Given the description of an element on the screen output the (x, y) to click on. 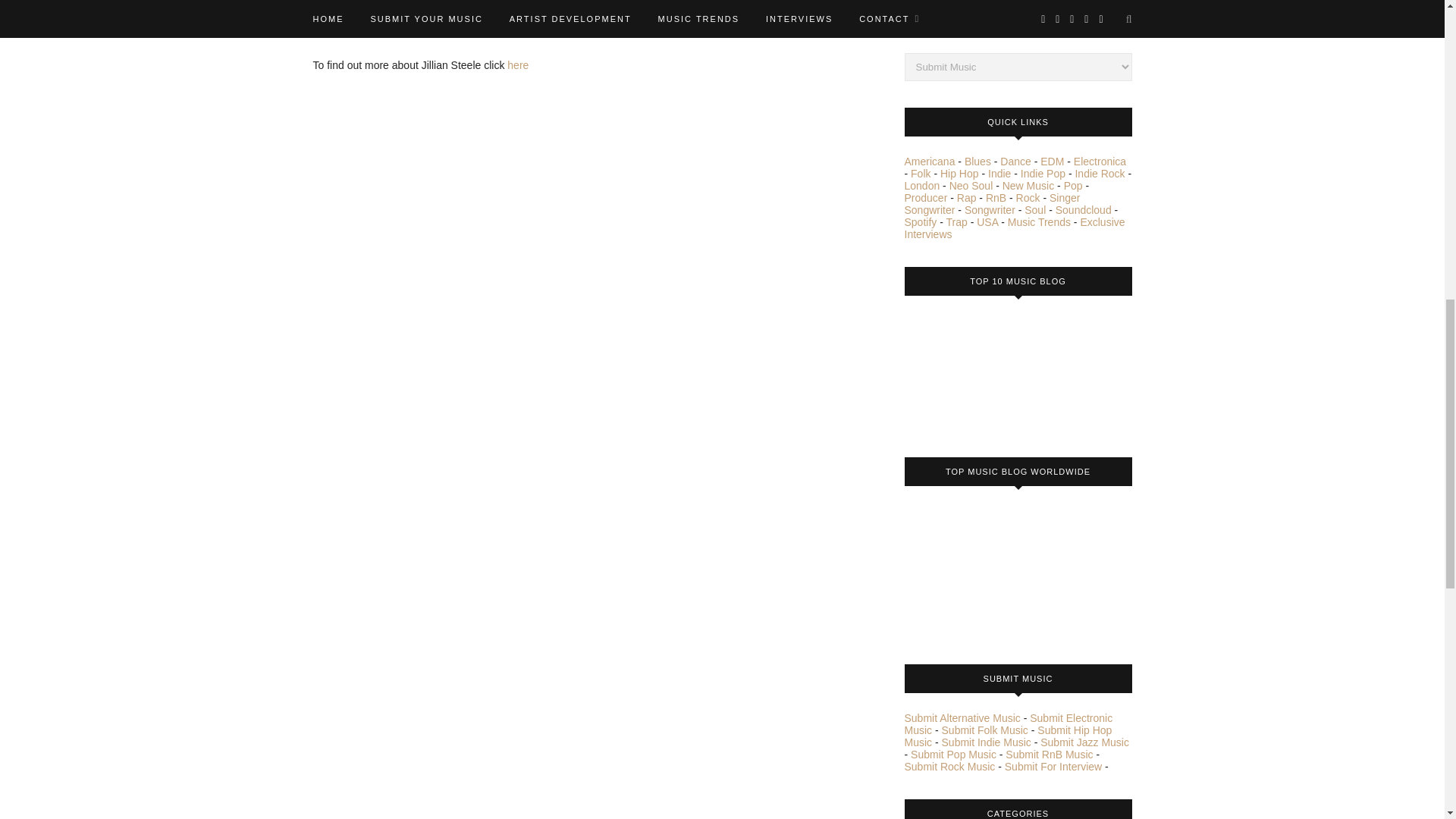
EDM (1052, 161)
Neo Soul (970, 185)
here (517, 64)
Electronica (1099, 161)
Indie Rock (1099, 173)
Americana (929, 161)
Top 10 Music Blog (960, 371)
Indie Pop (1042, 173)
Pop (1073, 185)
Indie (999, 173)
